Given the description of an element on the screen output the (x, y) to click on. 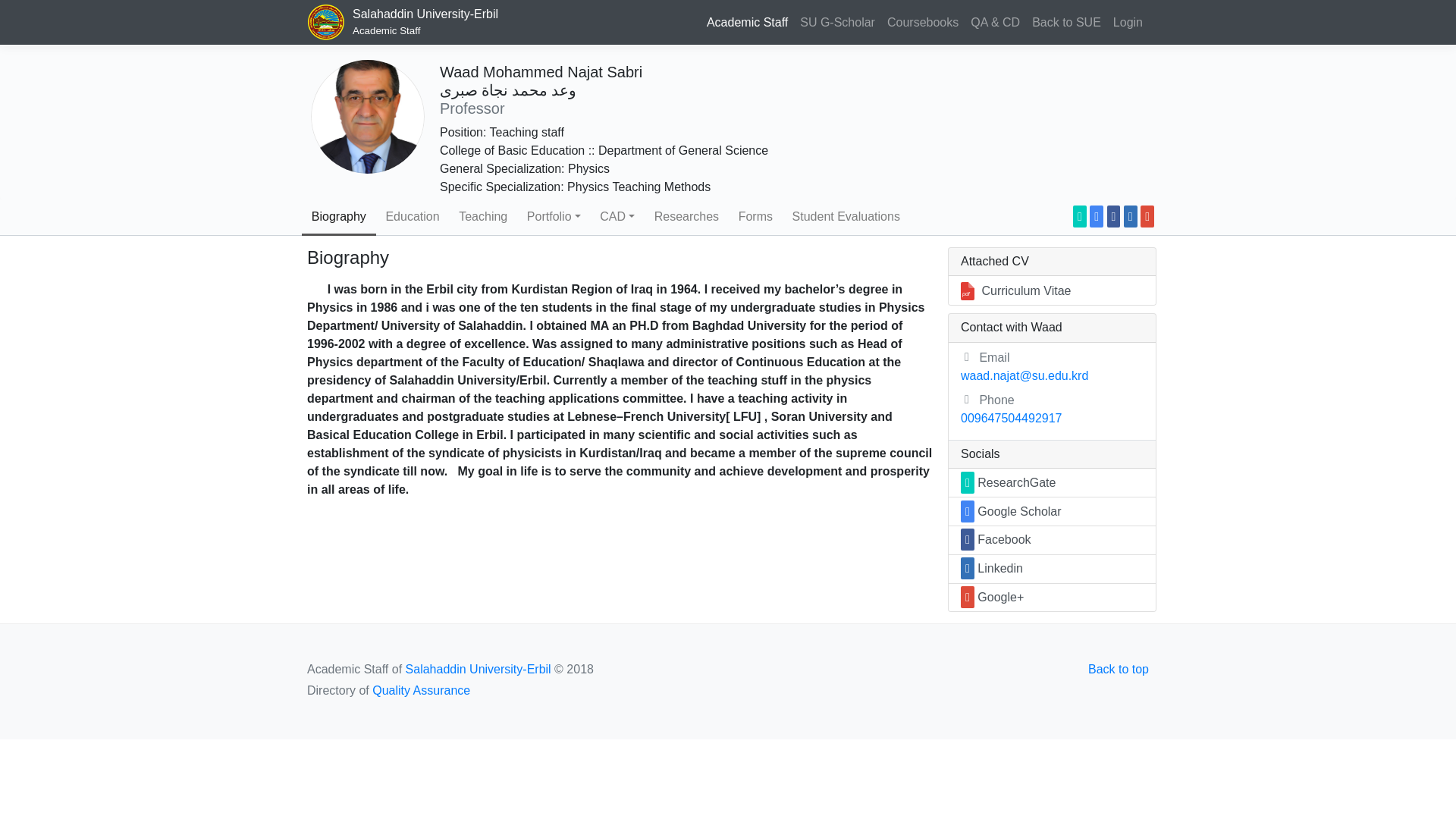
Biography (338, 216)
Portfolio (552, 216)
Login (406, 22)
Continuous Academic Development (1127, 22)
Quality Assurance and Curriculum Development (616, 216)
Salahaddin University Google Scholar (994, 22)
Researches (836, 22)
Teaching (687, 216)
CAD (482, 216)
